Given the description of an element on the screen output the (x, y) to click on. 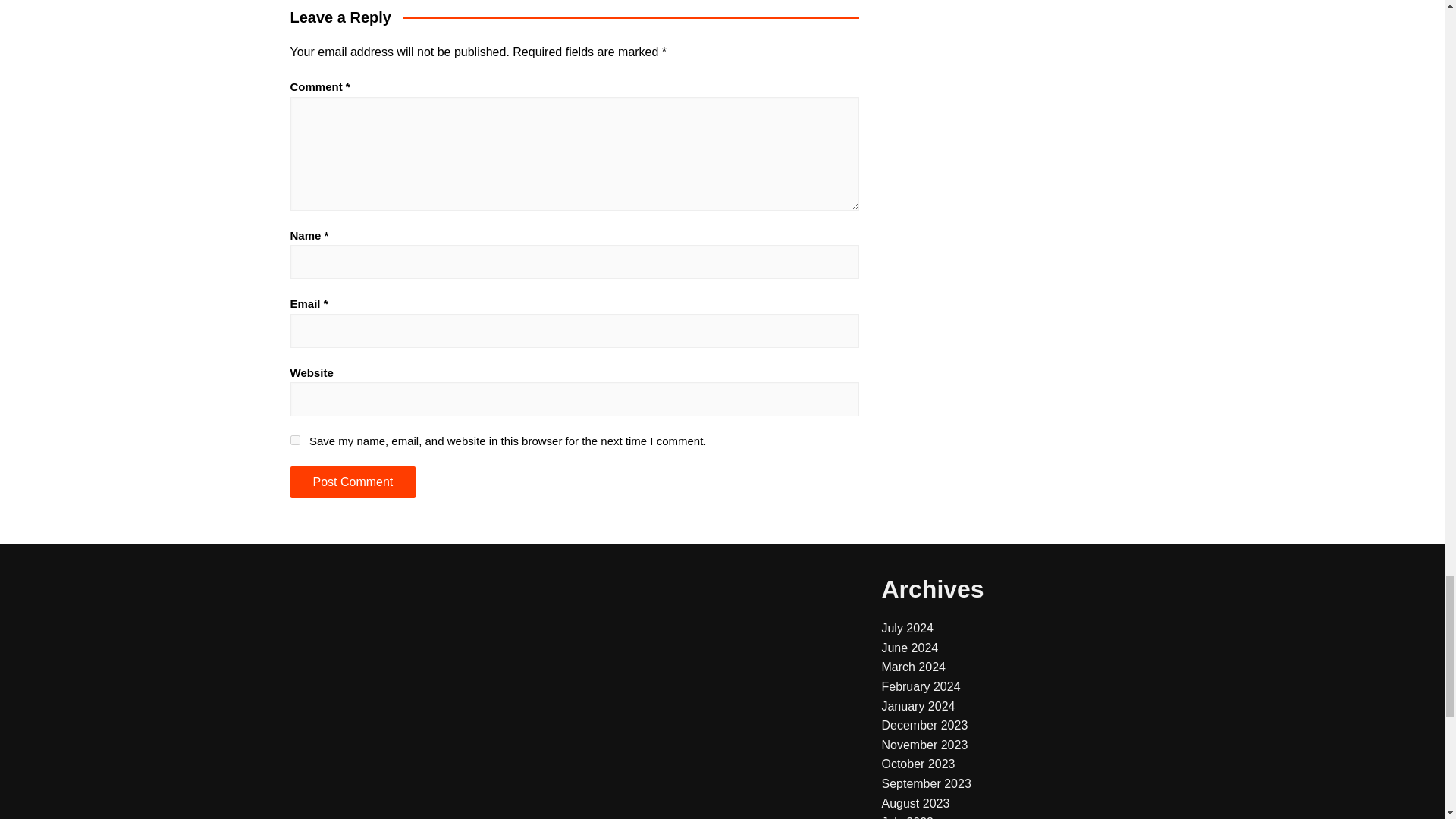
Post Comment (351, 481)
yes (294, 439)
